Given the description of an element on the screen output the (x, y) to click on. 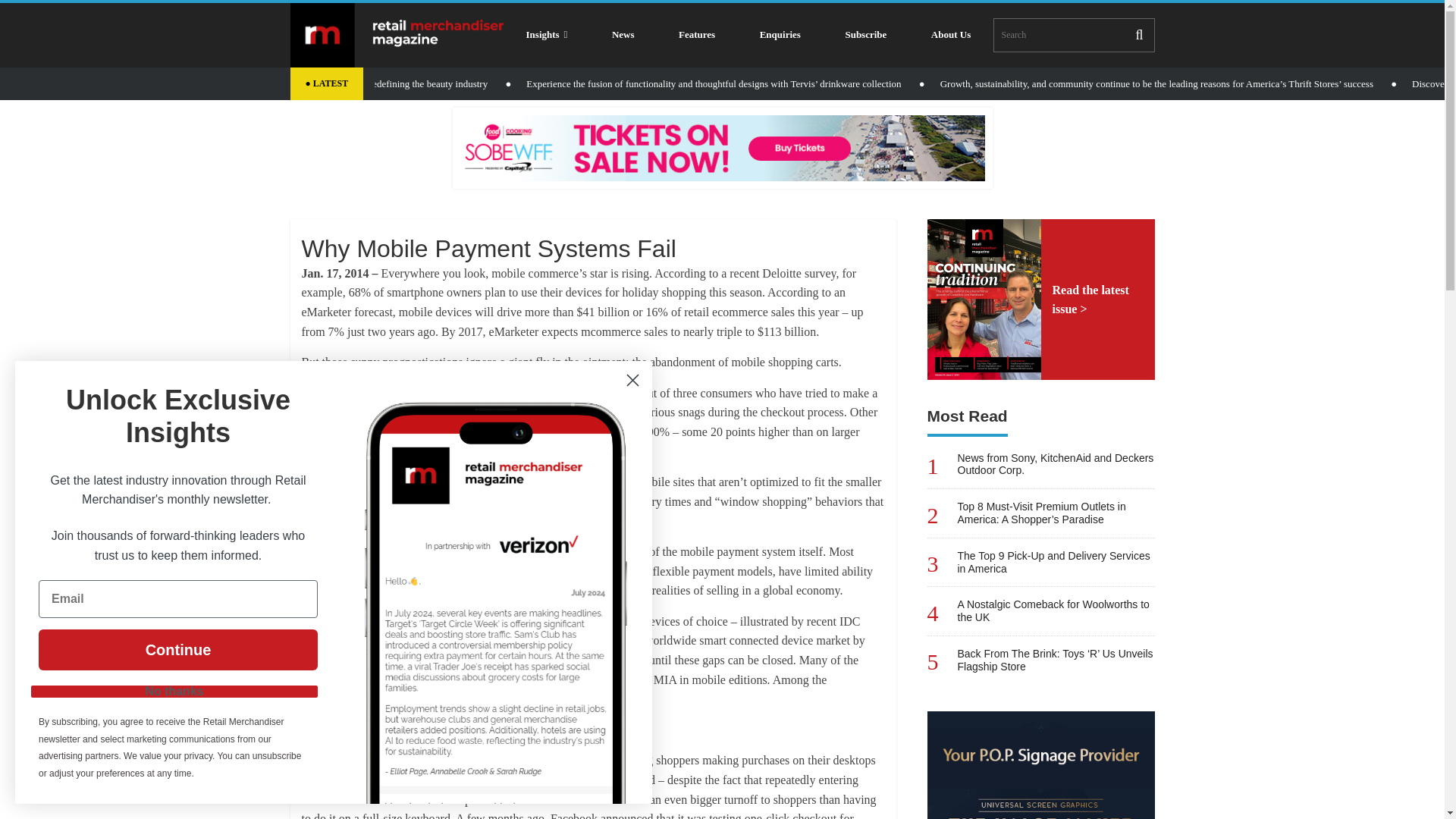
Enquiries (779, 35)
News (622, 35)
Insights (546, 35)
Retail Merchandiser (396, 35)
Close dialog 1 (633, 379)
Subscribe (865, 35)
Features (697, 35)
About Us (950, 35)
